Given the description of an element on the screen output the (x, y) to click on. 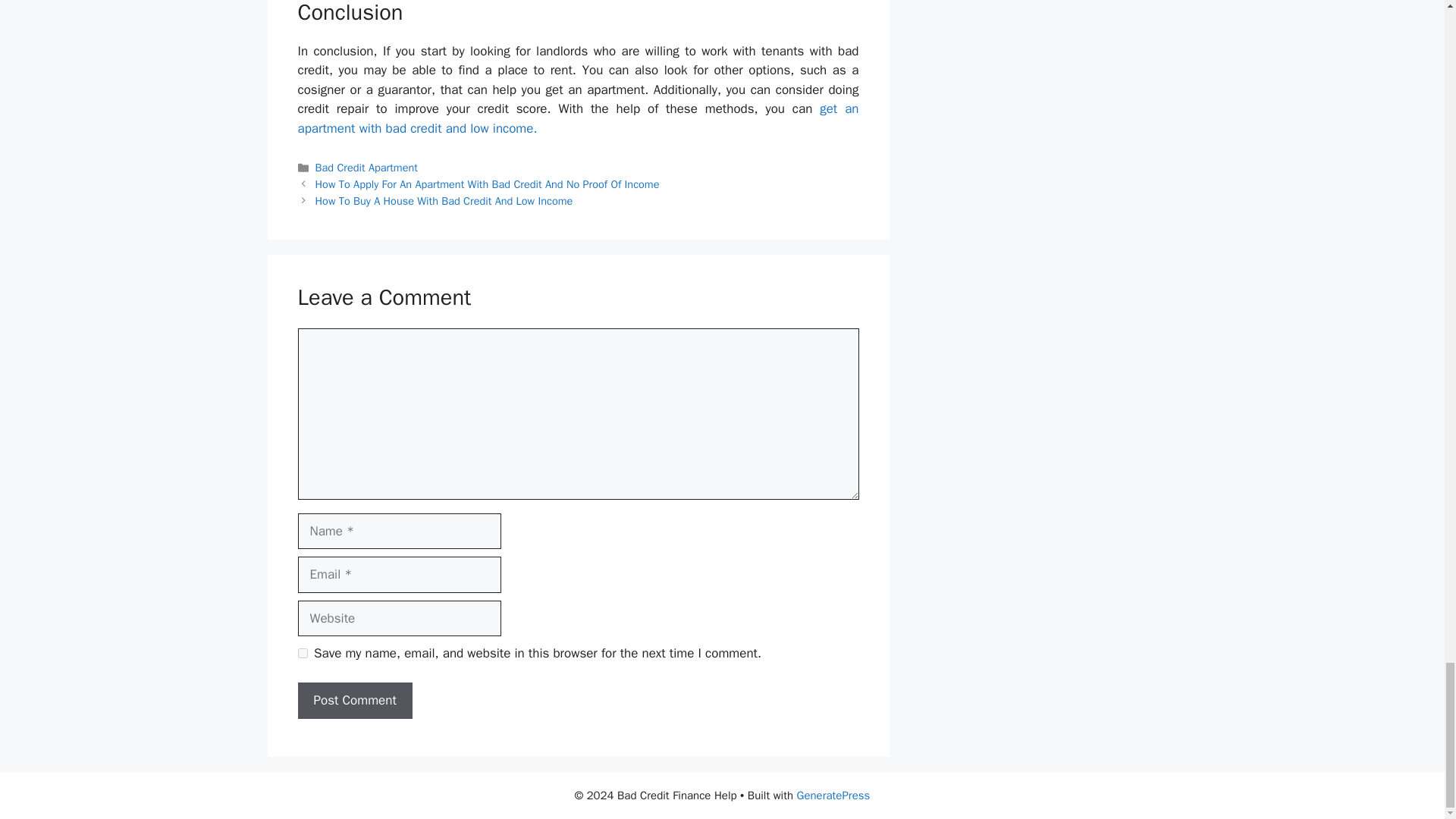
get an apartment with bad credit and low income. (578, 118)
yes (302, 653)
GeneratePress (833, 795)
Bad Credit Apartment (366, 167)
How To Buy A House With Bad Credit And Low Income (444, 201)
Post Comment (354, 700)
Post Comment (354, 700)
